Given the description of an element on the screen output the (x, y) to click on. 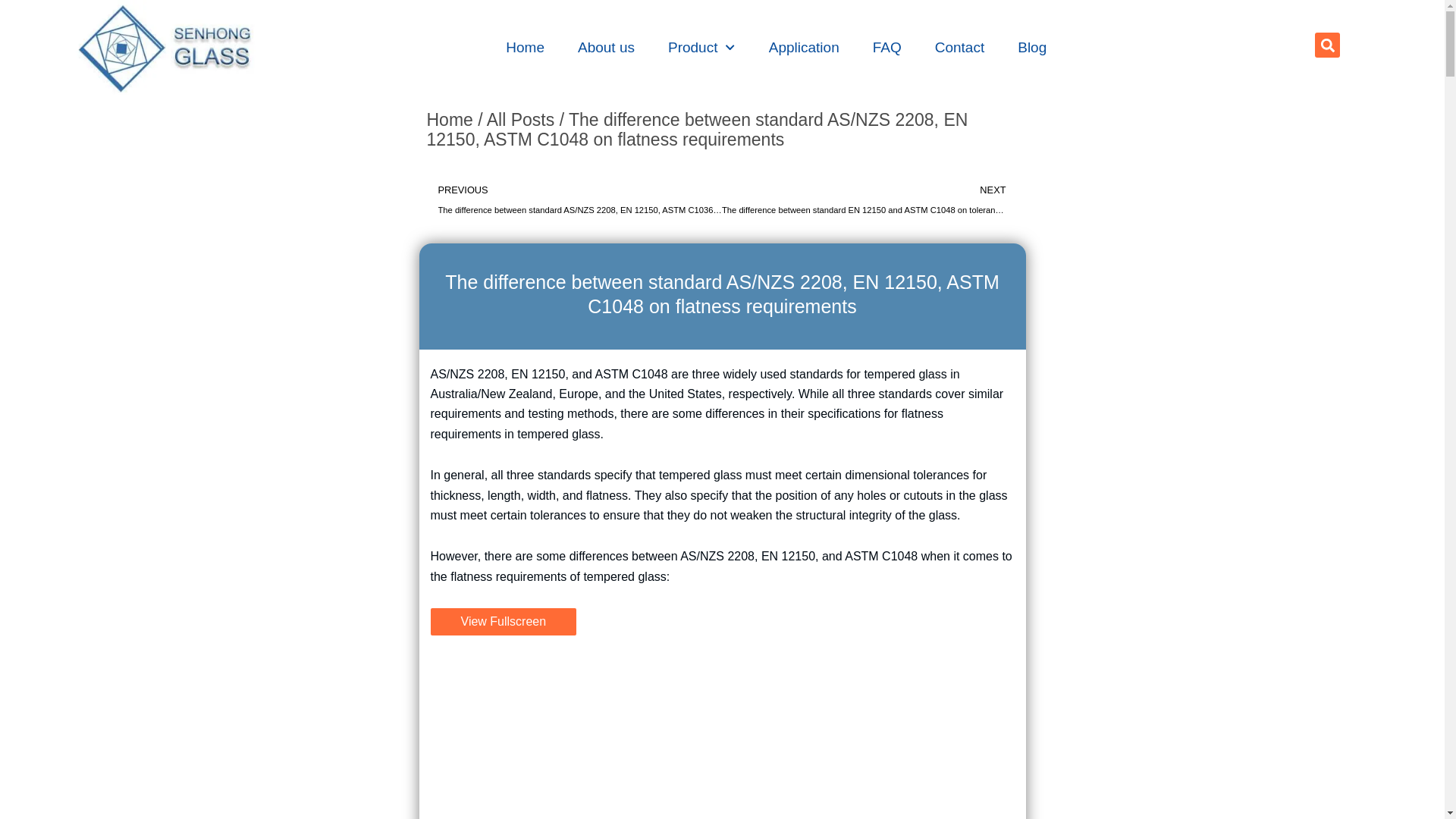
Application (804, 47)
Contact (959, 47)
FAQ (887, 47)
Blog (1031, 47)
View Fullscreen (503, 621)
View Fullscreen (503, 621)
All Posts (520, 119)
Home (524, 47)
About us (605, 47)
Product (701, 47)
